Given the description of an element on the screen output the (x, y) to click on. 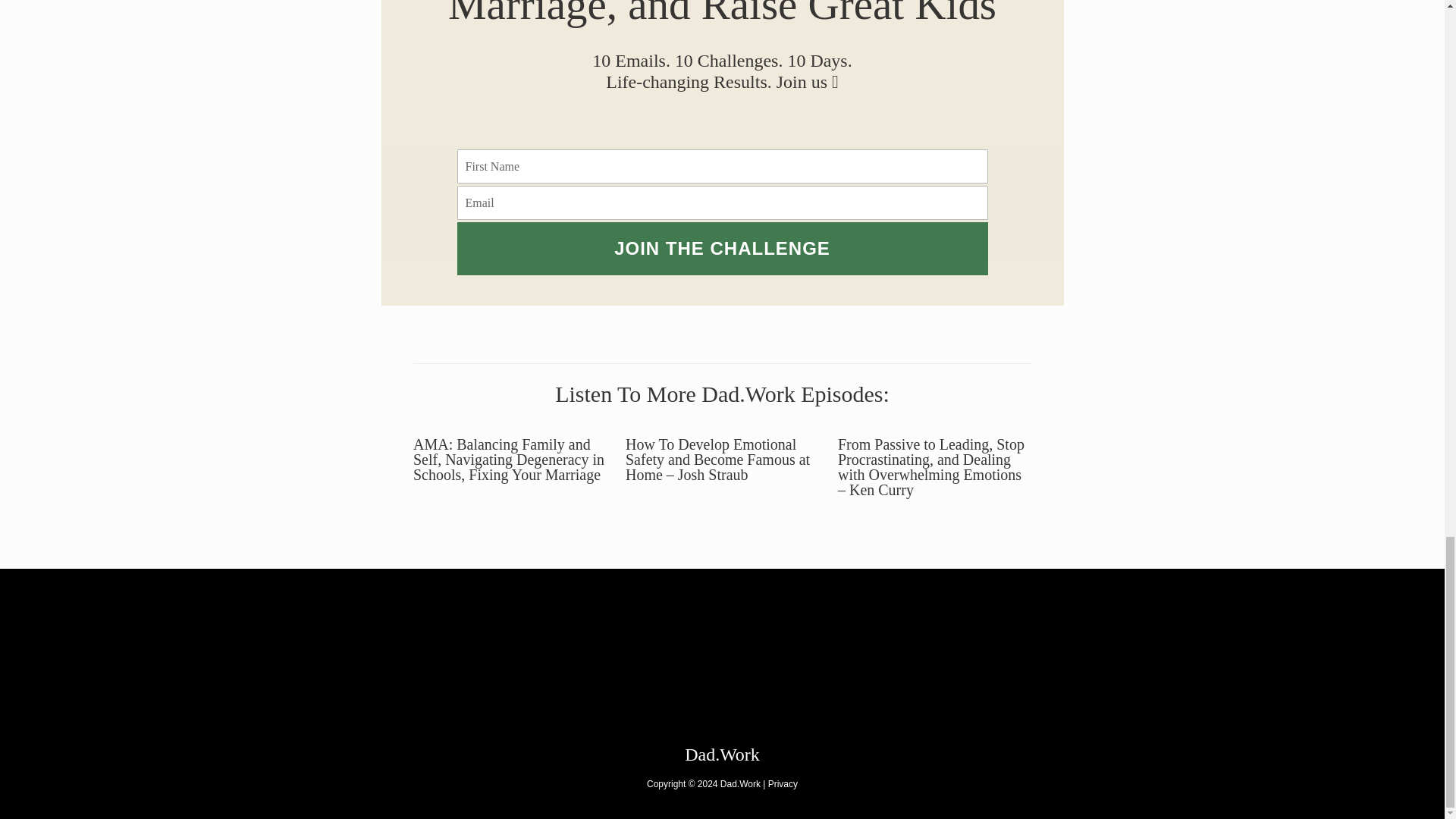
Dad.Work (722, 754)
Privacy (782, 783)
JOIN THE CHALLENGE (722, 248)
